Given the description of an element on the screen output the (x, y) to click on. 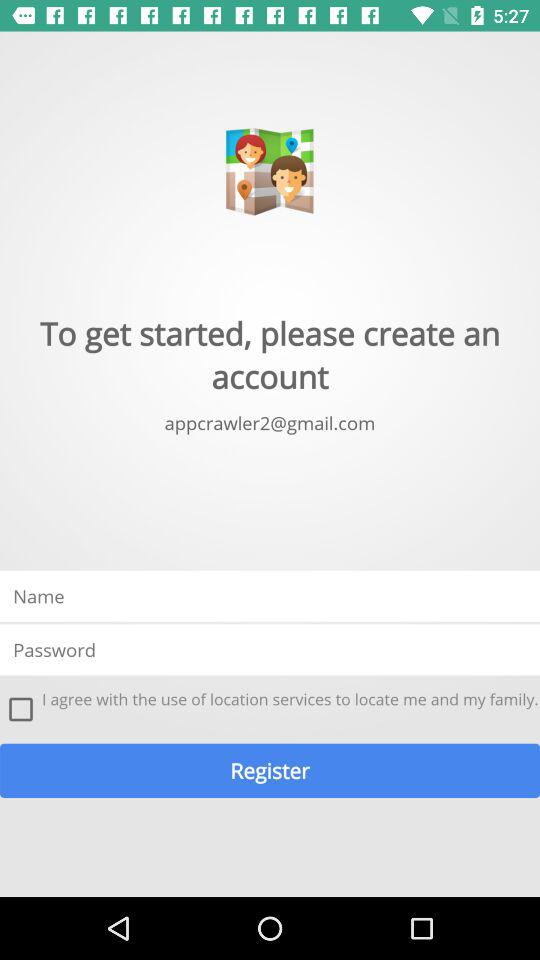
open the icon at the bottom left corner (21, 709)
